Given the description of an element on the screen output the (x, y) to click on. 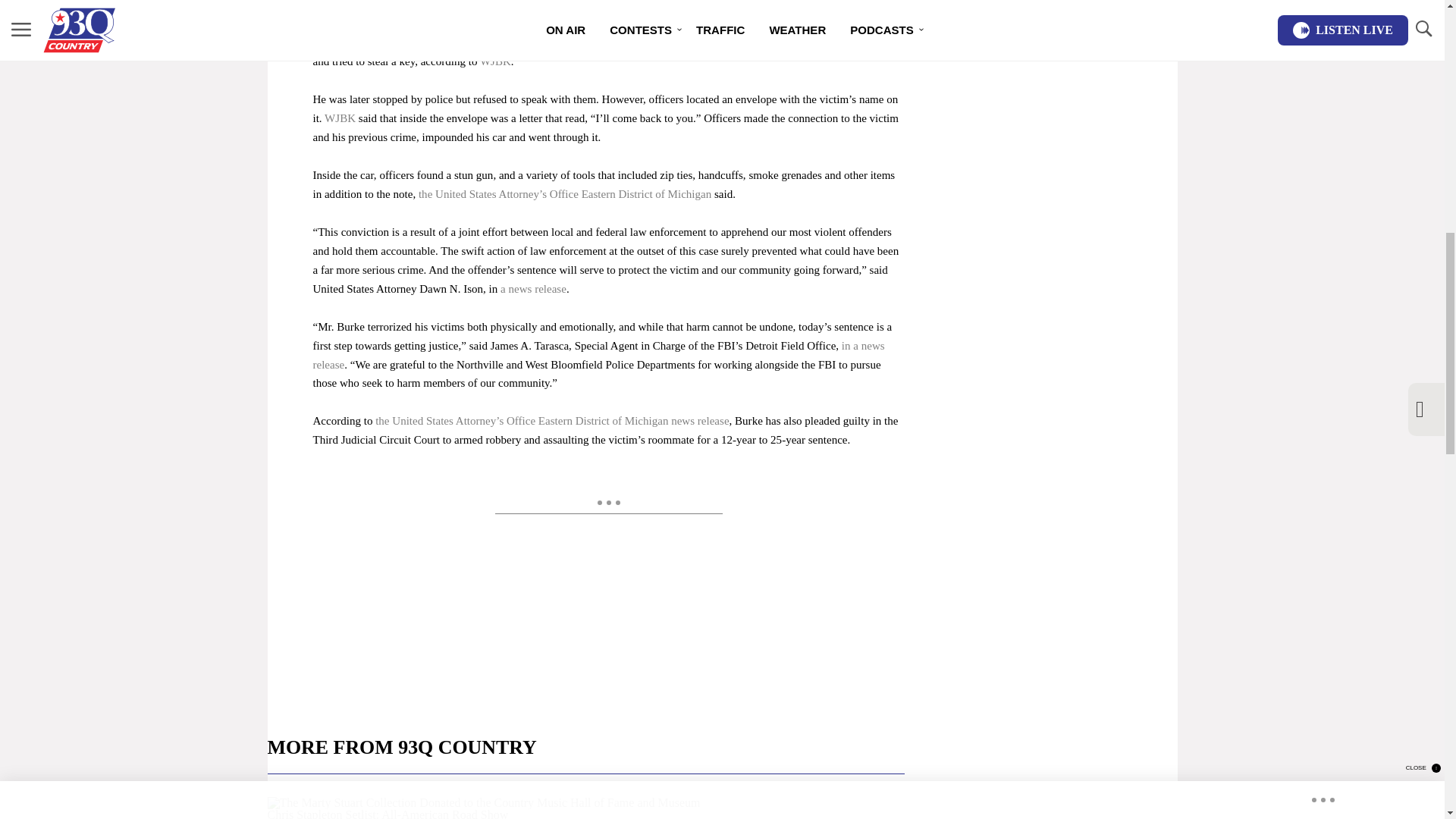
WJBK (339, 118)
Chris Stapleton Setlist: All-American Road Show (585, 807)
WJBK (495, 61)
in a news release (598, 355)
a news release (533, 288)
